Given the description of an element on the screen output the (x, y) to click on. 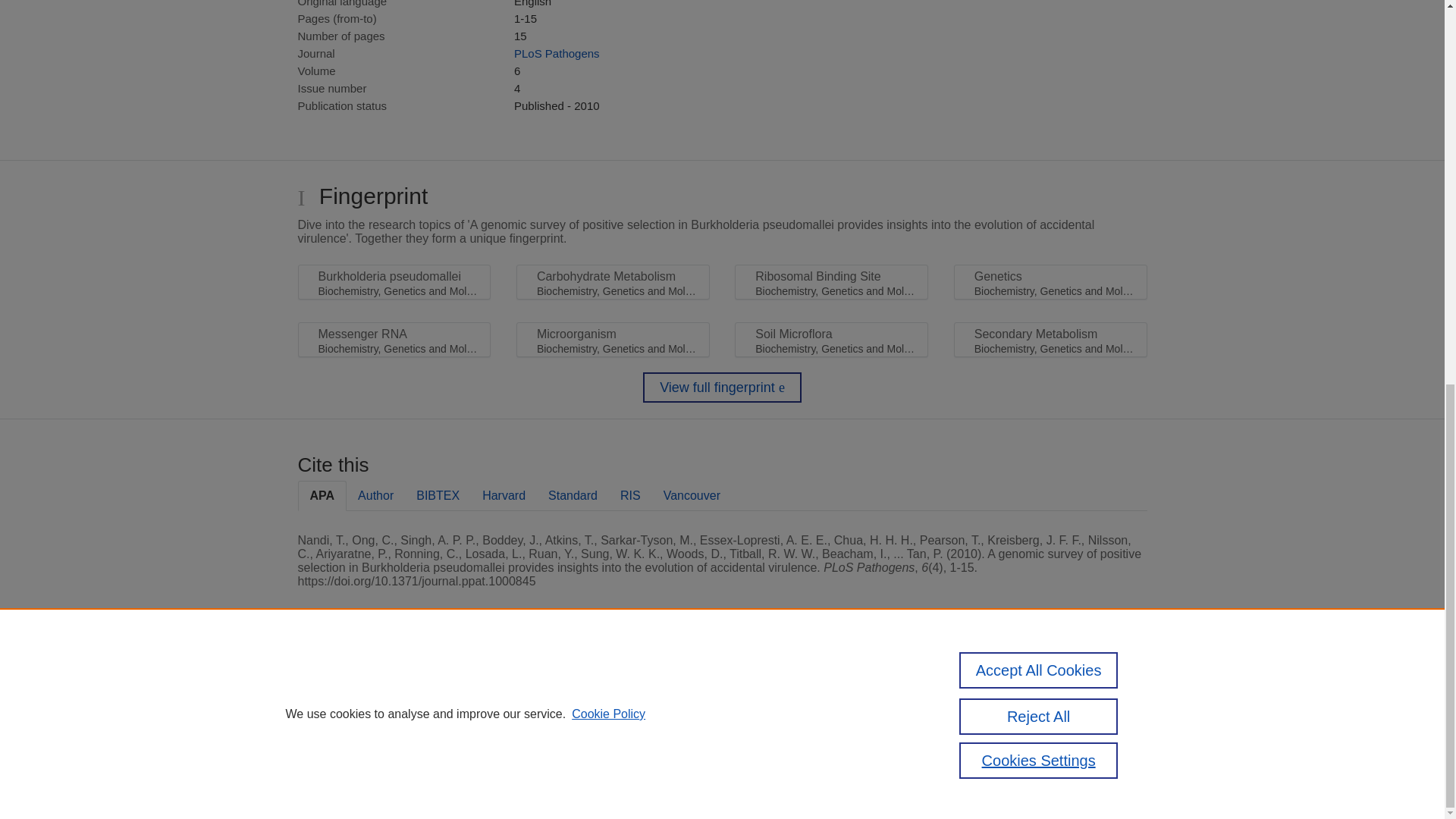
PLoS Pathogens (556, 52)
Pure (362, 686)
View full fingerprint (722, 387)
